Given the description of an element on the screen output the (x, y) to click on. 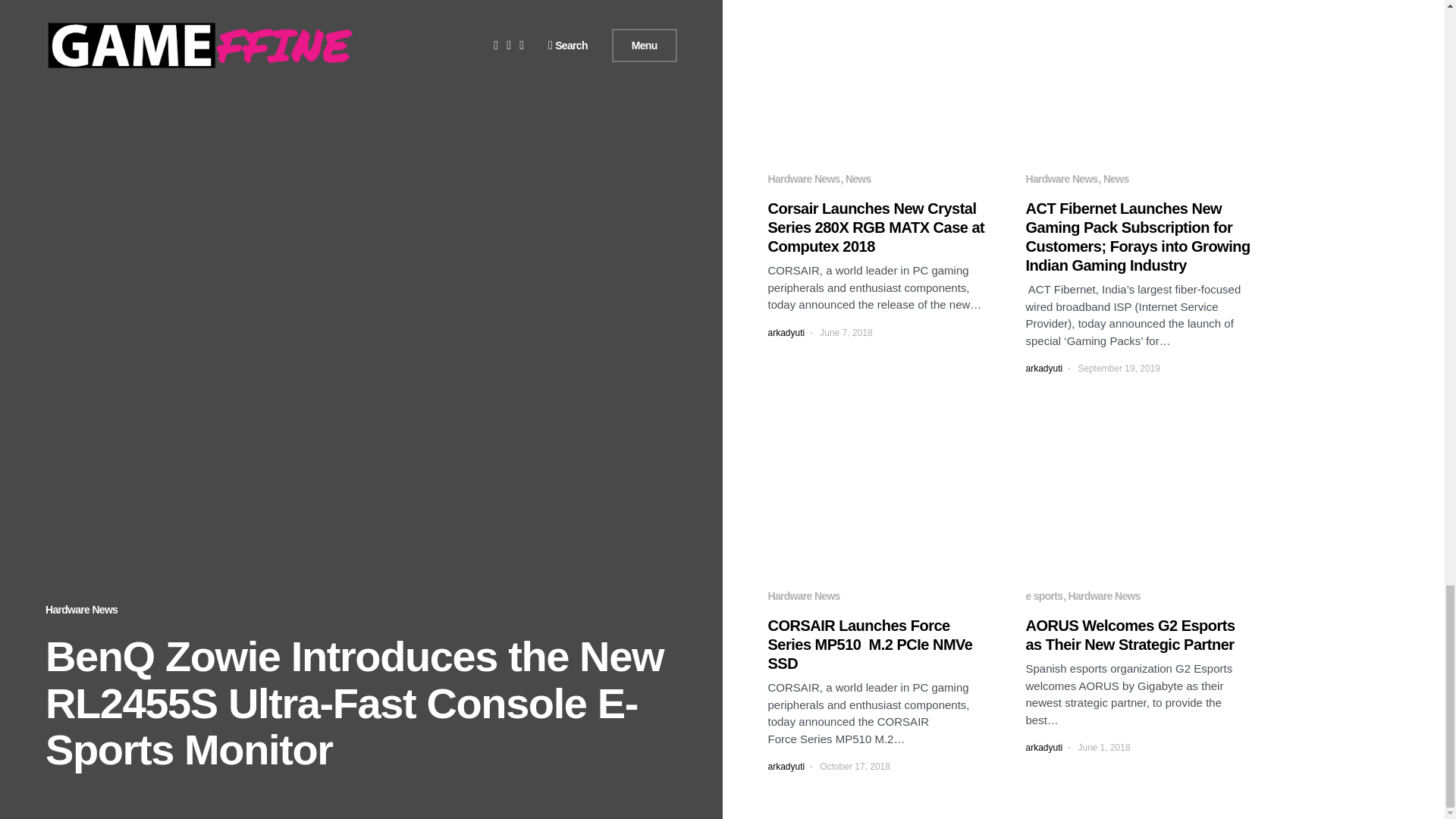
View all posts by arkadyuti (786, 766)
View all posts by arkadyuti (1043, 368)
View all posts by arkadyuti (1043, 747)
View all posts by arkadyuti (786, 332)
